Given the description of an element on the screen output the (x, y) to click on. 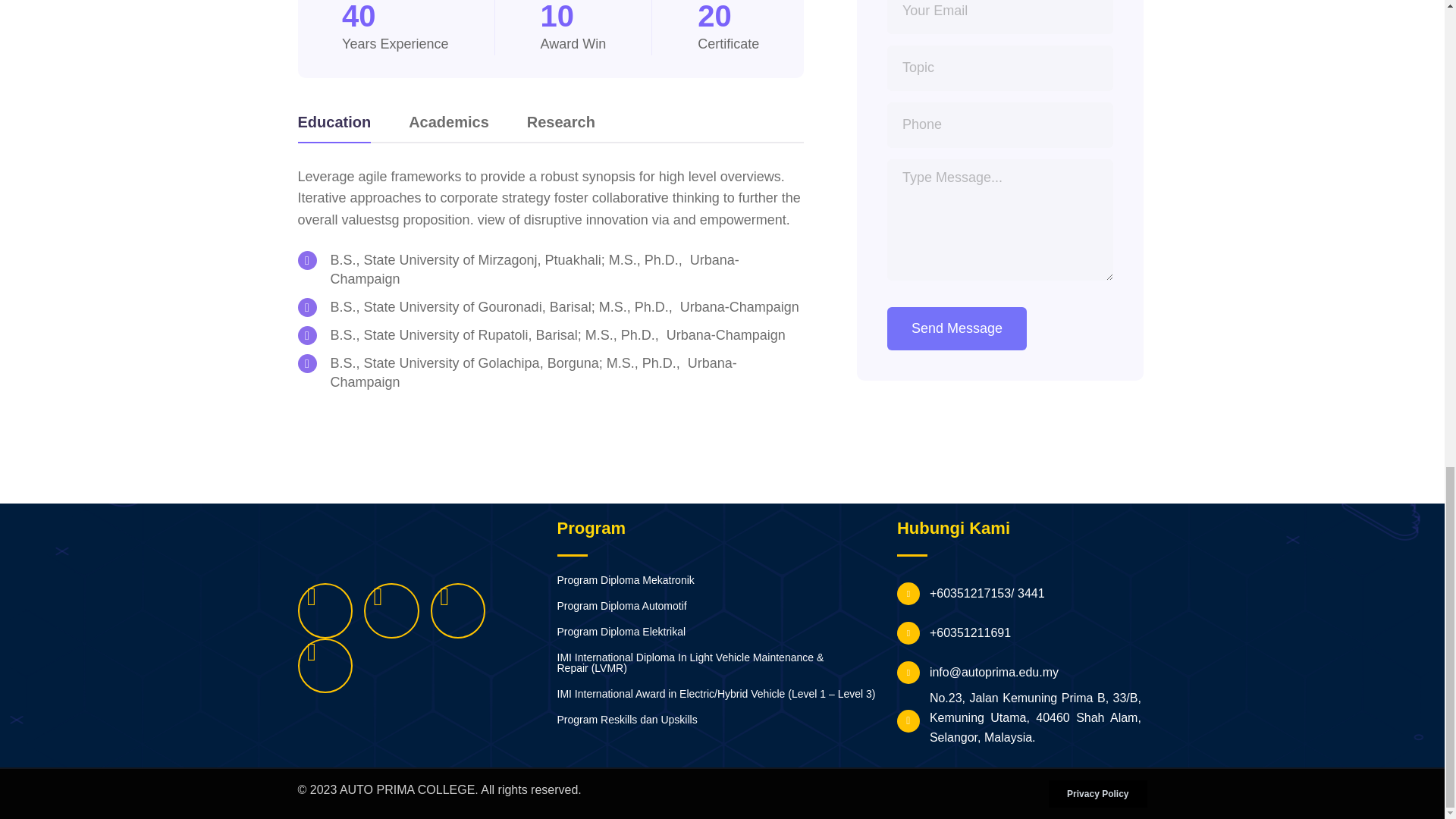
Research (561, 125)
Send Message (956, 328)
Send Message (956, 328)
Academics (449, 125)
Education (334, 125)
